Given the description of an element on the screen output the (x, y) to click on. 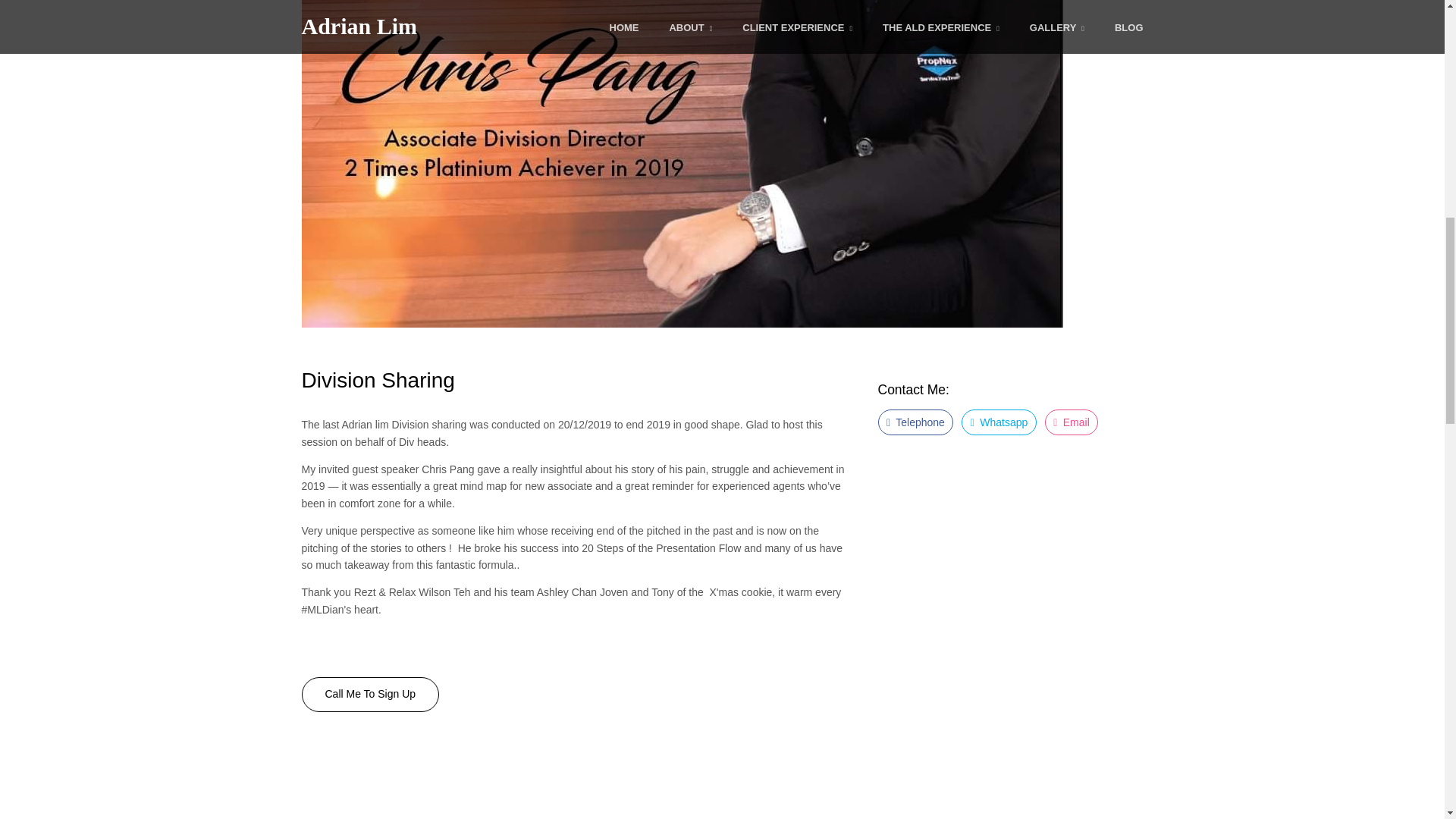
Telephone (915, 421)
Call Me To Sign Up (370, 694)
Whatsapp (998, 421)
Email (1072, 421)
